Given the description of an element on the screen output the (x, y) to click on. 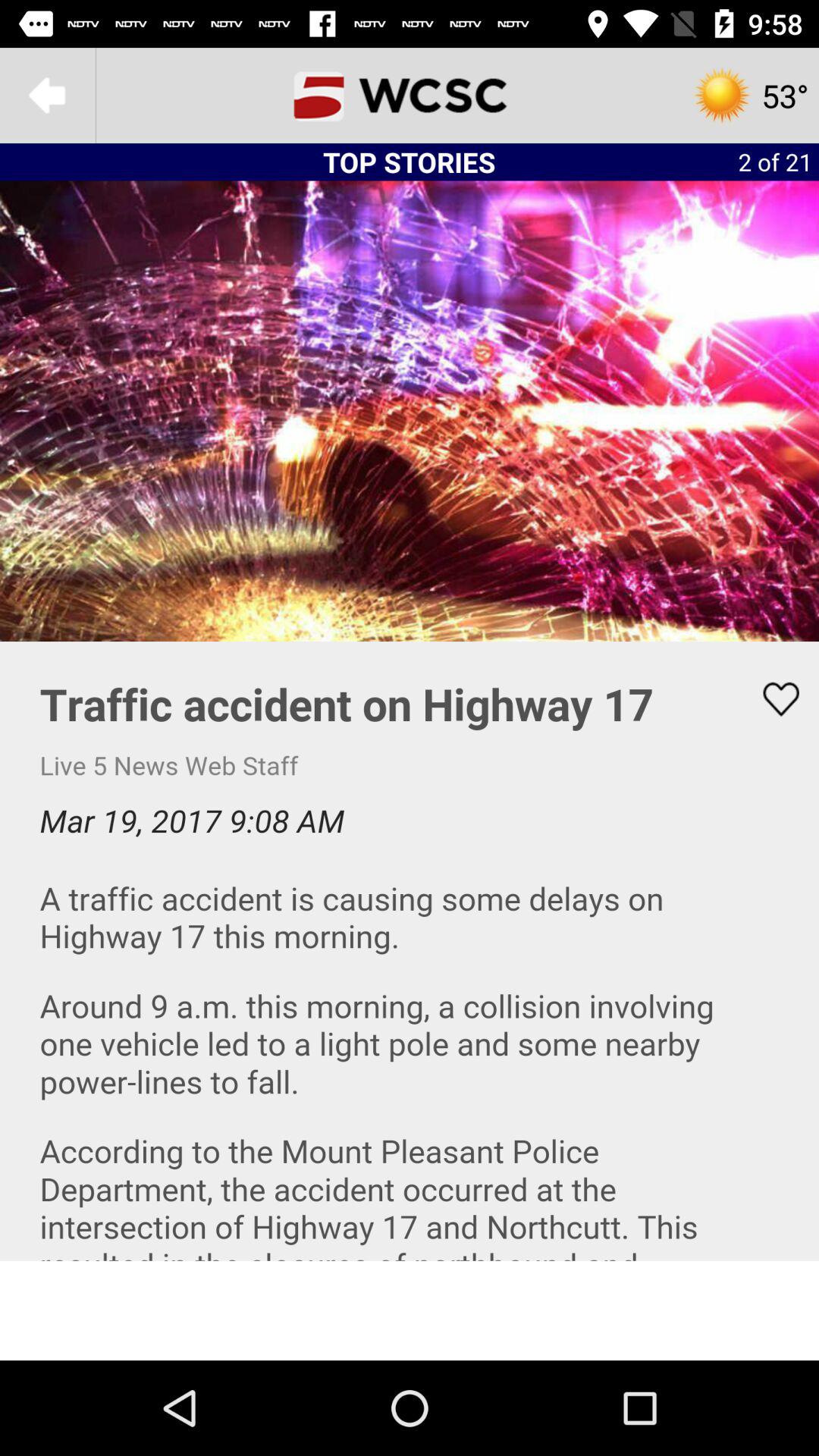
share the article (771, 699)
